Given the description of an element on the screen output the (x, y) to click on. 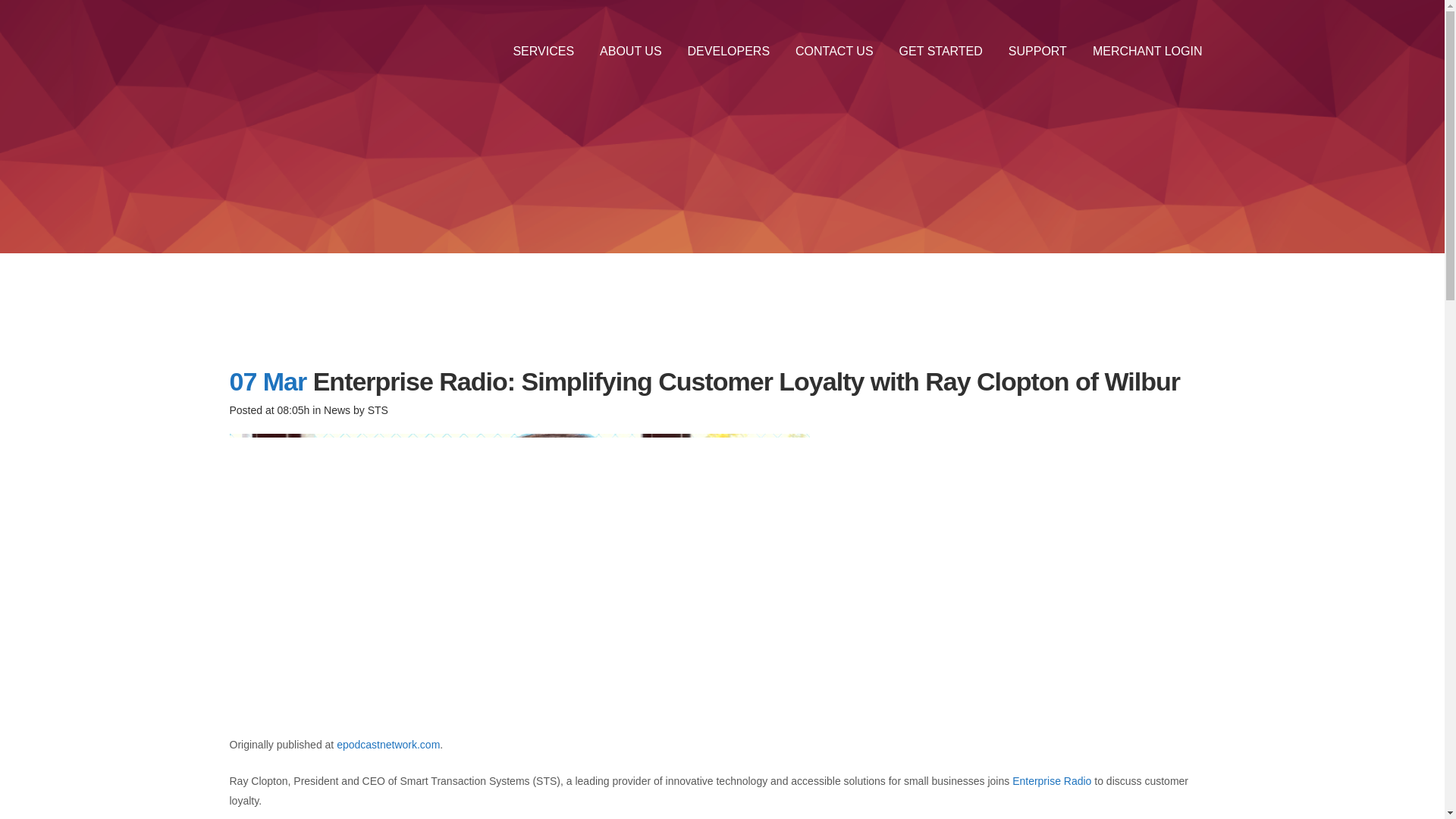
CONTACT US (834, 50)
SERVICES (542, 50)
ABOUT US (630, 50)
DEVELOPERS (729, 50)
GET STARTED (940, 50)
MERCHANT LOGIN (1147, 50)
SUPPORT (1037, 50)
